Given the description of an element on the screen output the (x, y) to click on. 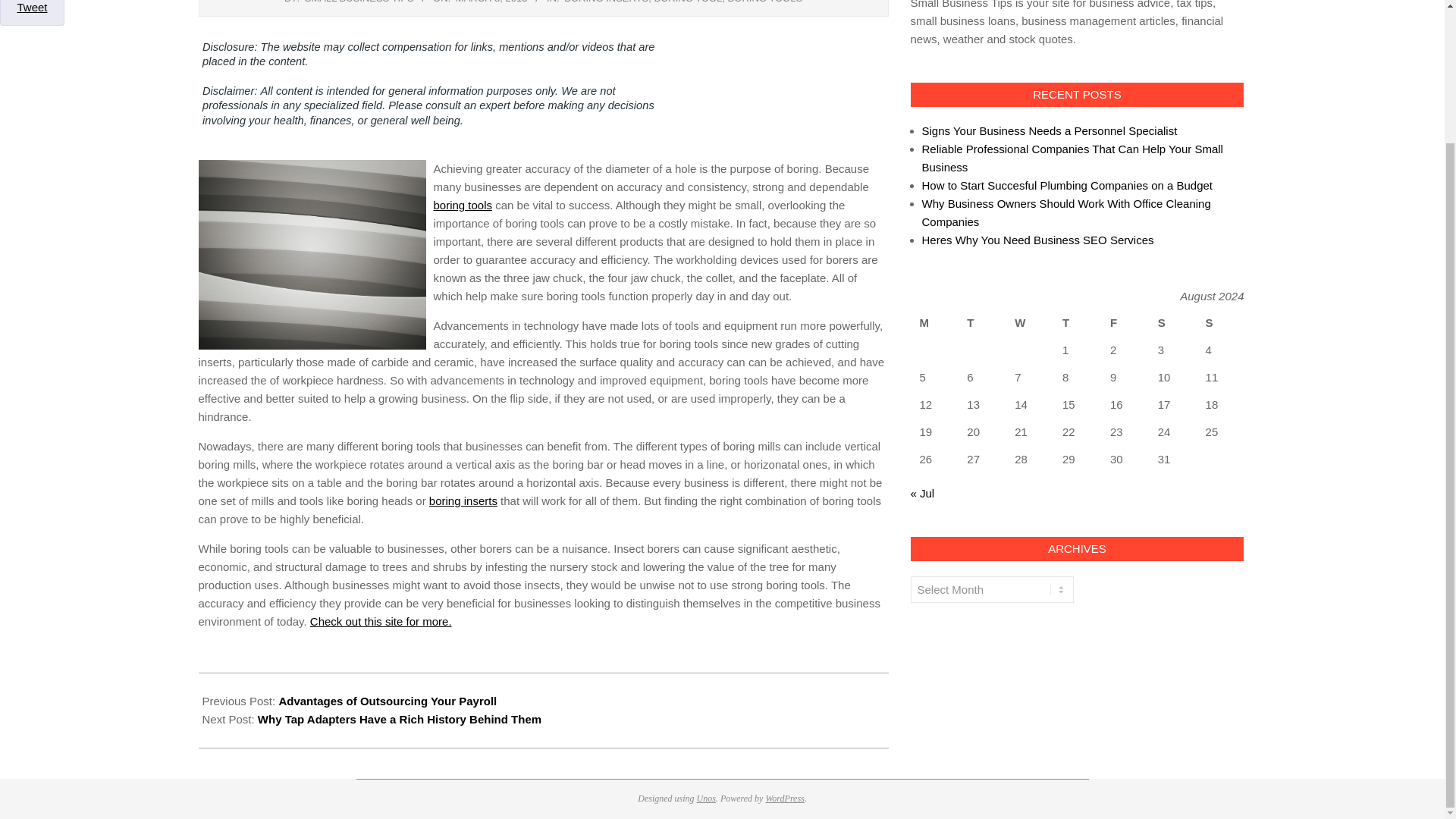
Signs Your Business Needs a Personnel Specialist (1049, 130)
Tweet (31, 6)
Sunday (1220, 322)
boring inserts (463, 500)
BORING INSERTS (605, 2)
BORING TOOL (687, 2)
To read more on Boring tools (463, 500)
Unos (706, 798)
Unos WordPress Theme (706, 798)
Friday (1124, 322)
WordPress (784, 798)
Wednesday (1029, 322)
SMALL BUSINESS TIPS (358, 2)
